Given the description of an element on the screen output the (x, y) to click on. 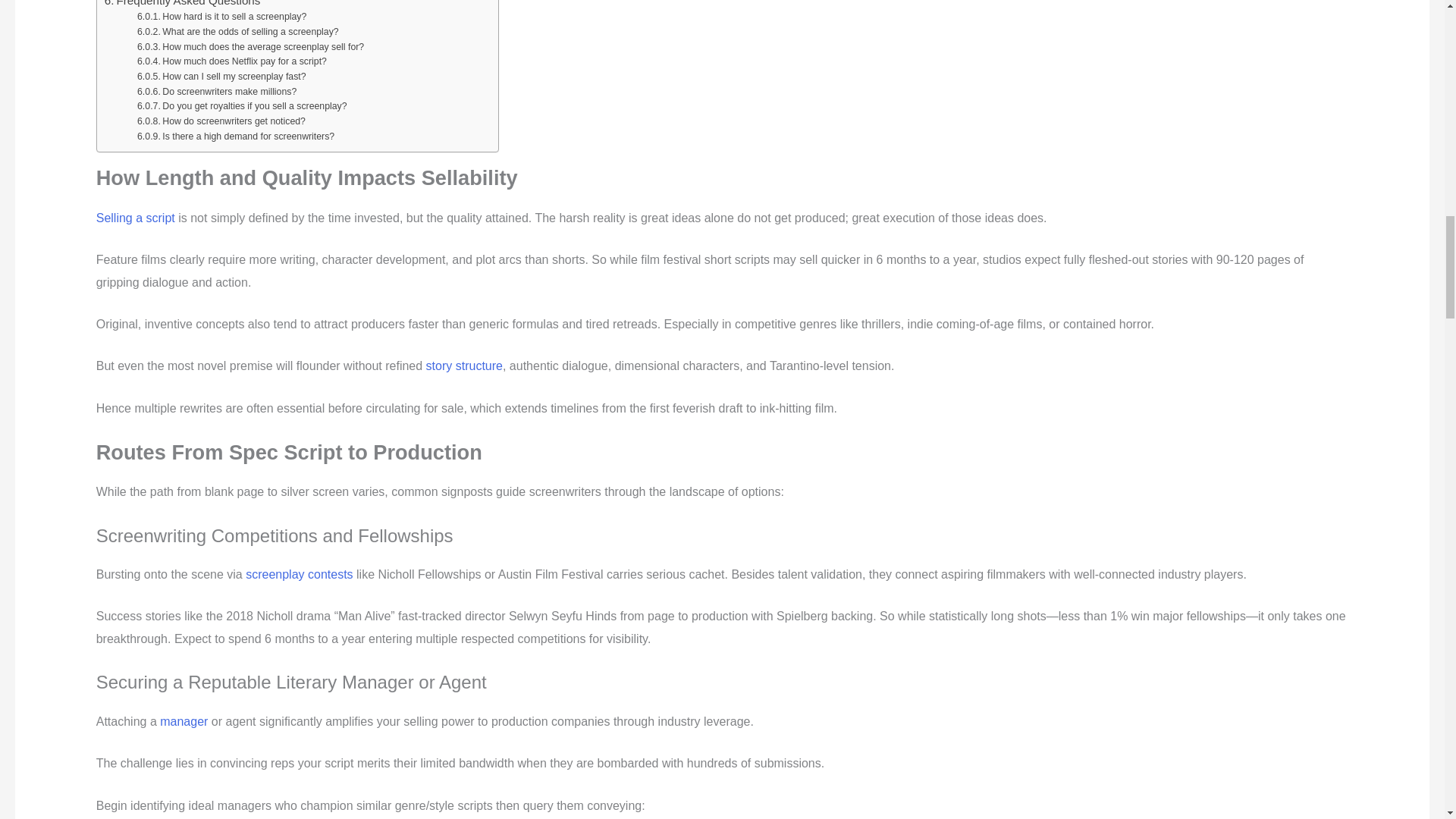
Frequently Asked Questions (182, 4)
How much does Netflix pay for a script? (231, 61)
Do screenwriters make millions? (216, 92)
What are the odds of selling a screenplay? (237, 32)
Frequently Asked Questions (182, 4)
How hard is it to sell a screenplay? (220, 17)
How much does the average screenplay sell for? (250, 47)
How can I sell my screenplay fast? (220, 77)
Do you get royalties if you sell a screenplay? (241, 106)
